Given the description of an element on the screen output the (x, y) to click on. 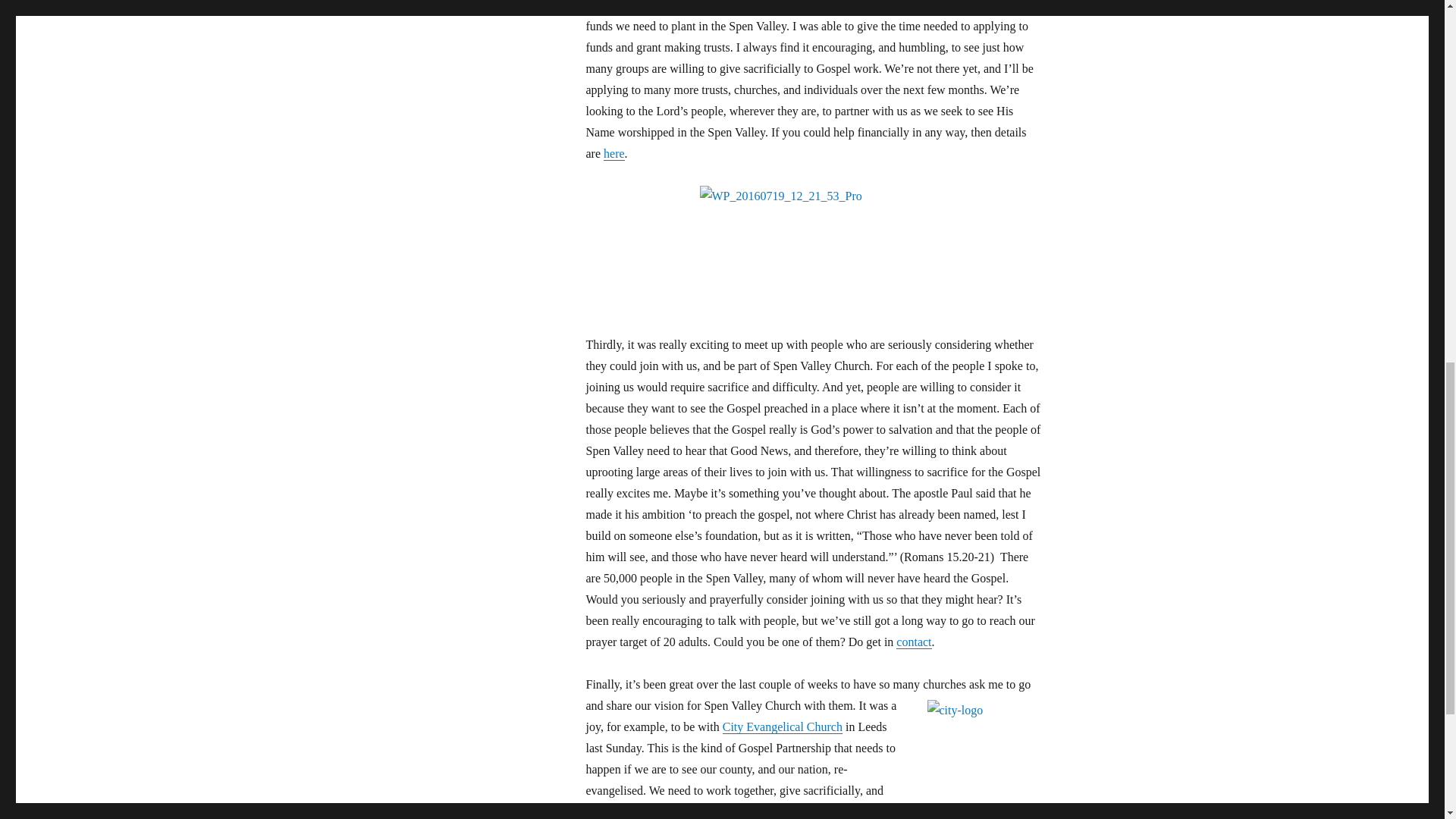
City Evangelical Church (782, 726)
here (614, 153)
contact (913, 641)
